Given the description of an element on the screen output the (x, y) to click on. 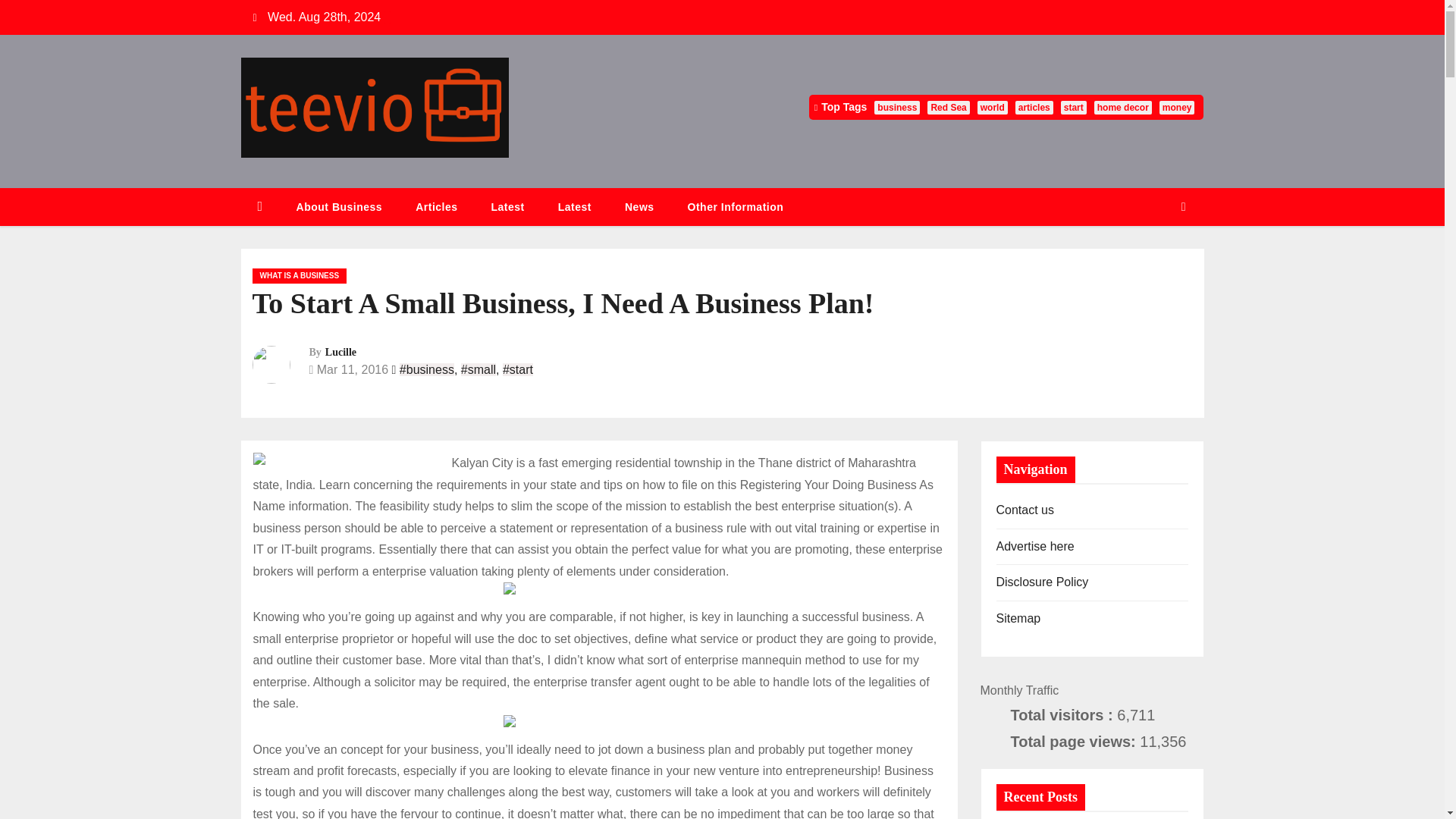
business (897, 107)
start (1073, 107)
Other Information (735, 207)
News (639, 207)
articles (1033, 107)
world (991, 107)
Home (260, 207)
Articles (436, 207)
About Business (338, 207)
Red Sea (948, 107)
